Given the description of an element on the screen output the (x, y) to click on. 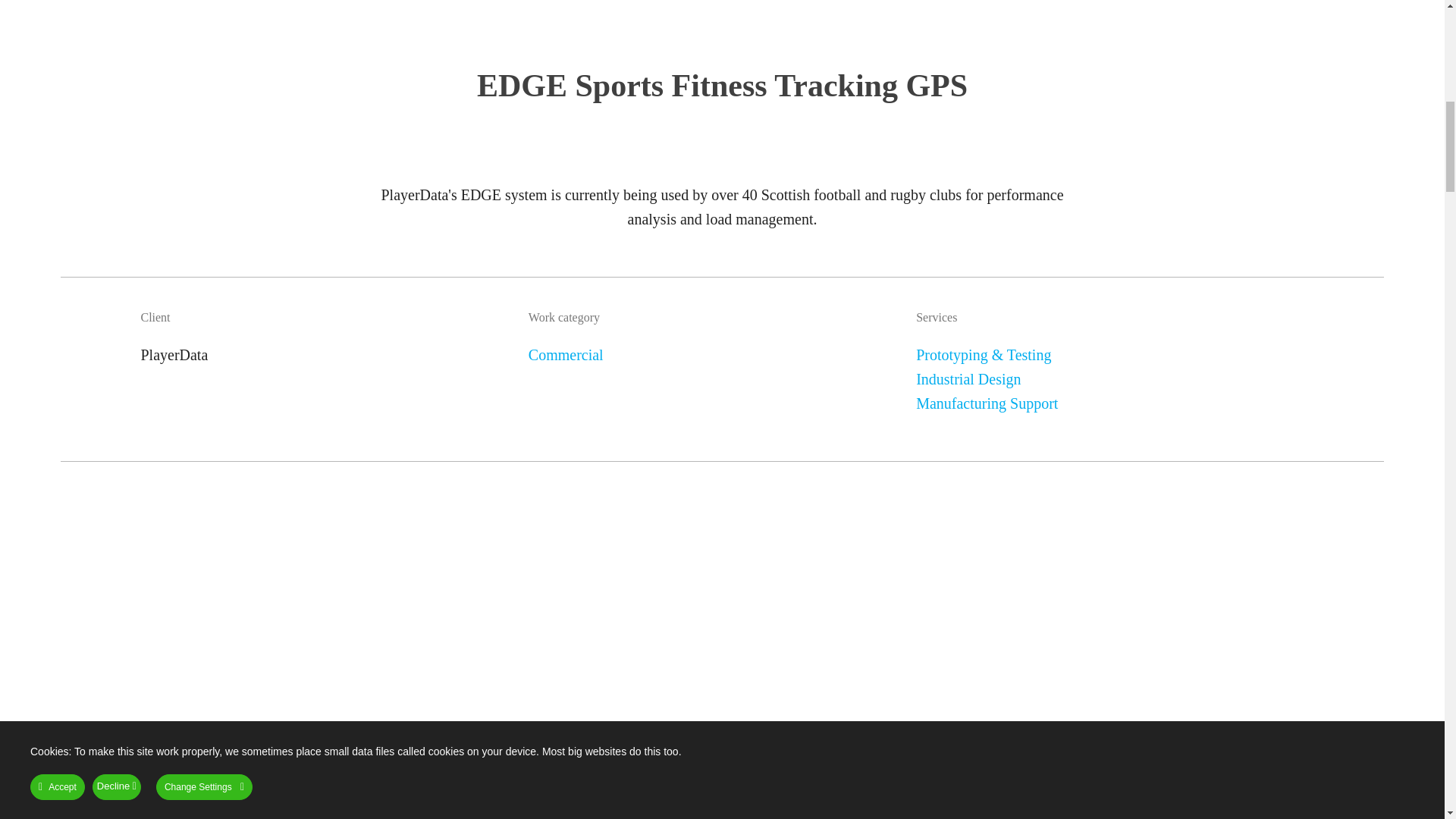
Industrial Design (967, 379)
Manufacturing Support (986, 402)
Commercial (566, 354)
